Given the description of an element on the screen output the (x, y) to click on. 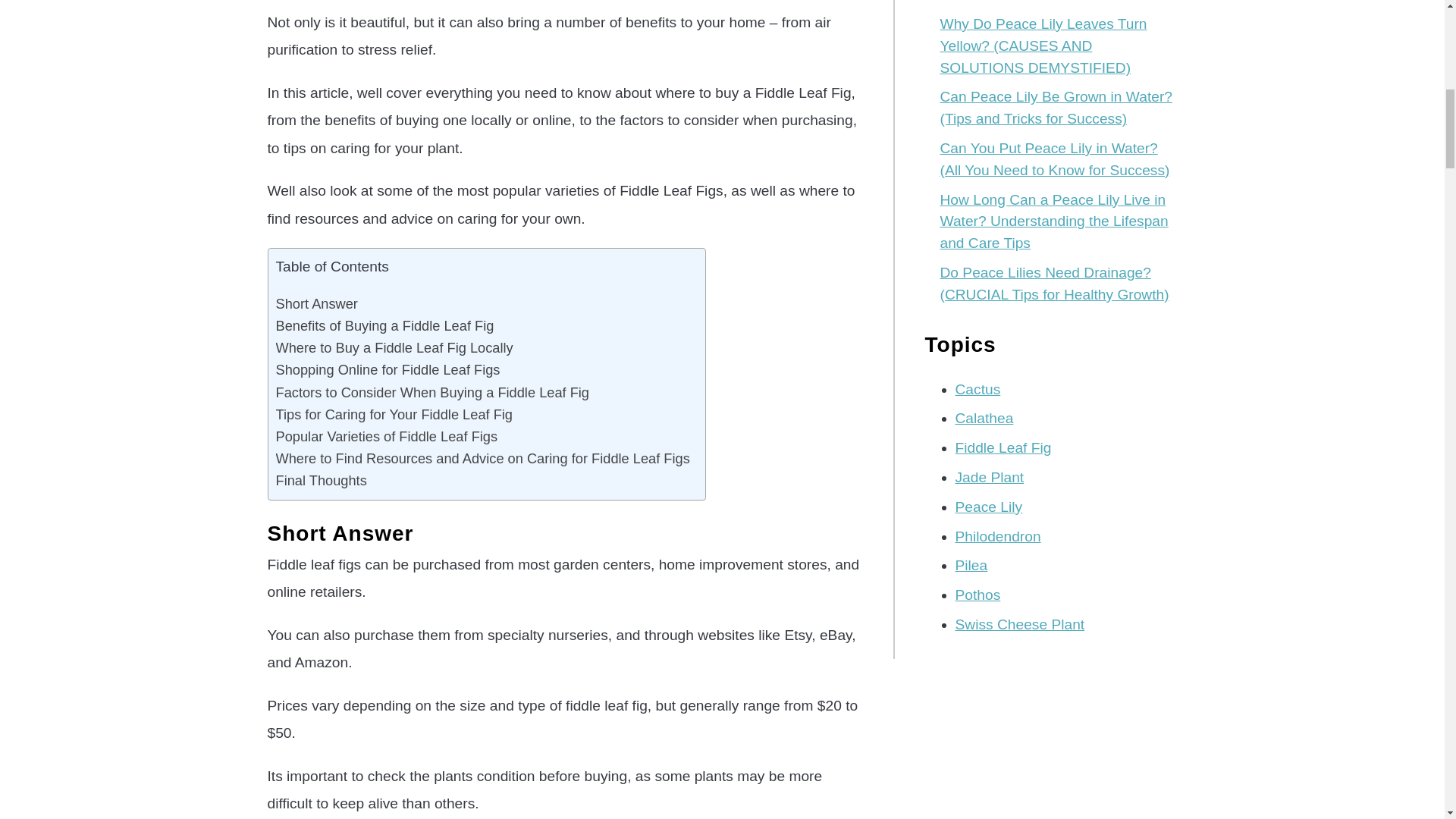
Shopping Online for Fiddle Leaf Figs (388, 369)
Tips for Caring for Your Fiddle Leaf Fig (394, 414)
Jade Plant (990, 477)
Short Answer (317, 303)
Final Thoughts (321, 480)
Cactus (978, 389)
Calathea (984, 417)
Benefits of Buying a Fiddle Leaf Fig (385, 325)
Peace Lily (989, 506)
